Given the description of an element on the screen output the (x, y) to click on. 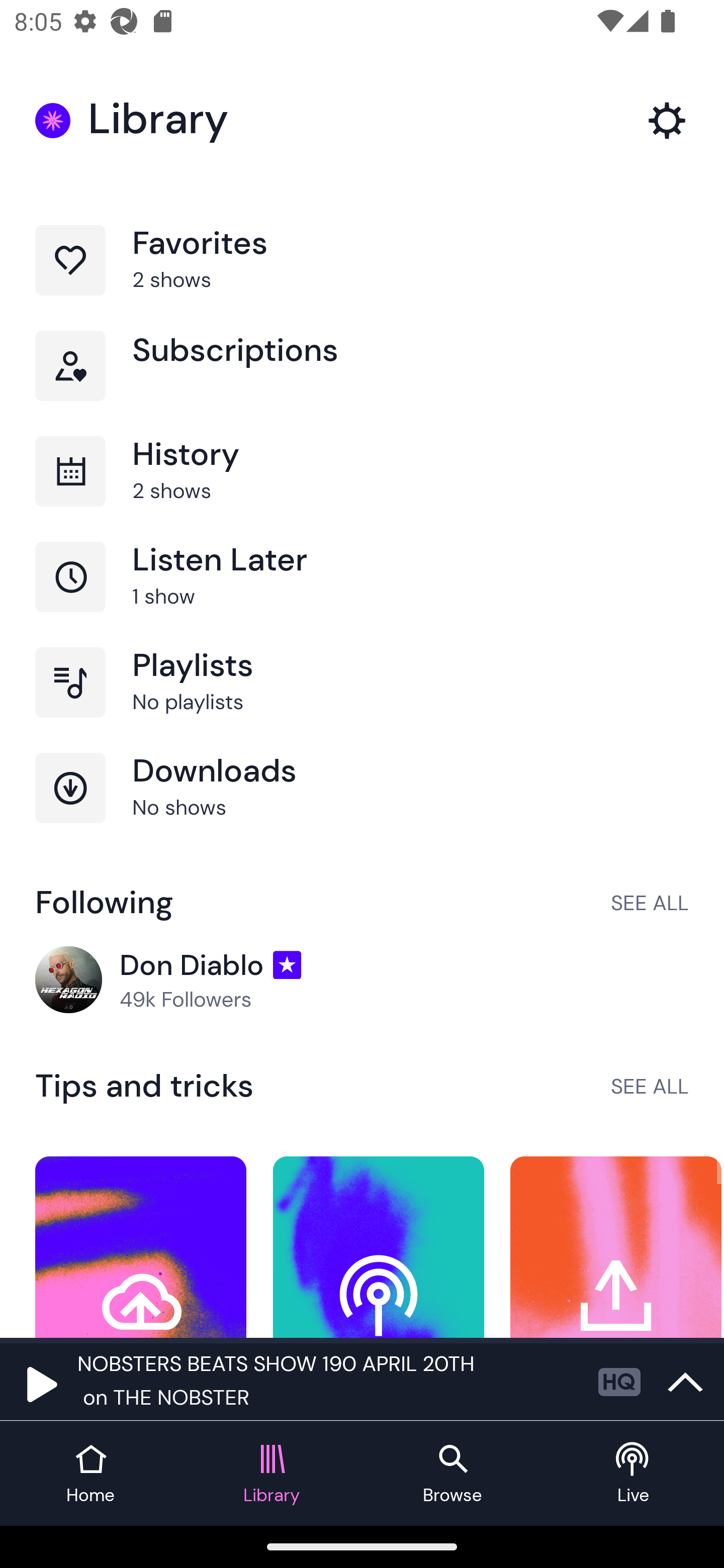
Favorites, 2 shows Favorites 2 shows (361, 277)
Subscriptions (361, 382)
History, 2 shows History 2 shows (361, 488)
Listen Later, 1 show Listen Later 1 show (361, 594)
Playlists, No playlists Playlists No playlists (361, 699)
Downloads, No shows Downloads No shows (361, 804)
SEE ALL (649, 902)
Don Diablo, 49k Followers Don Diablo 49k Followers (361, 980)
SEE ALL (649, 1085)
Home tab Home (90, 1473)
Library tab Library (271, 1473)
Browse tab Browse (452, 1473)
Live tab Live (633, 1473)
